Given the description of an element on the screen output the (x, y) to click on. 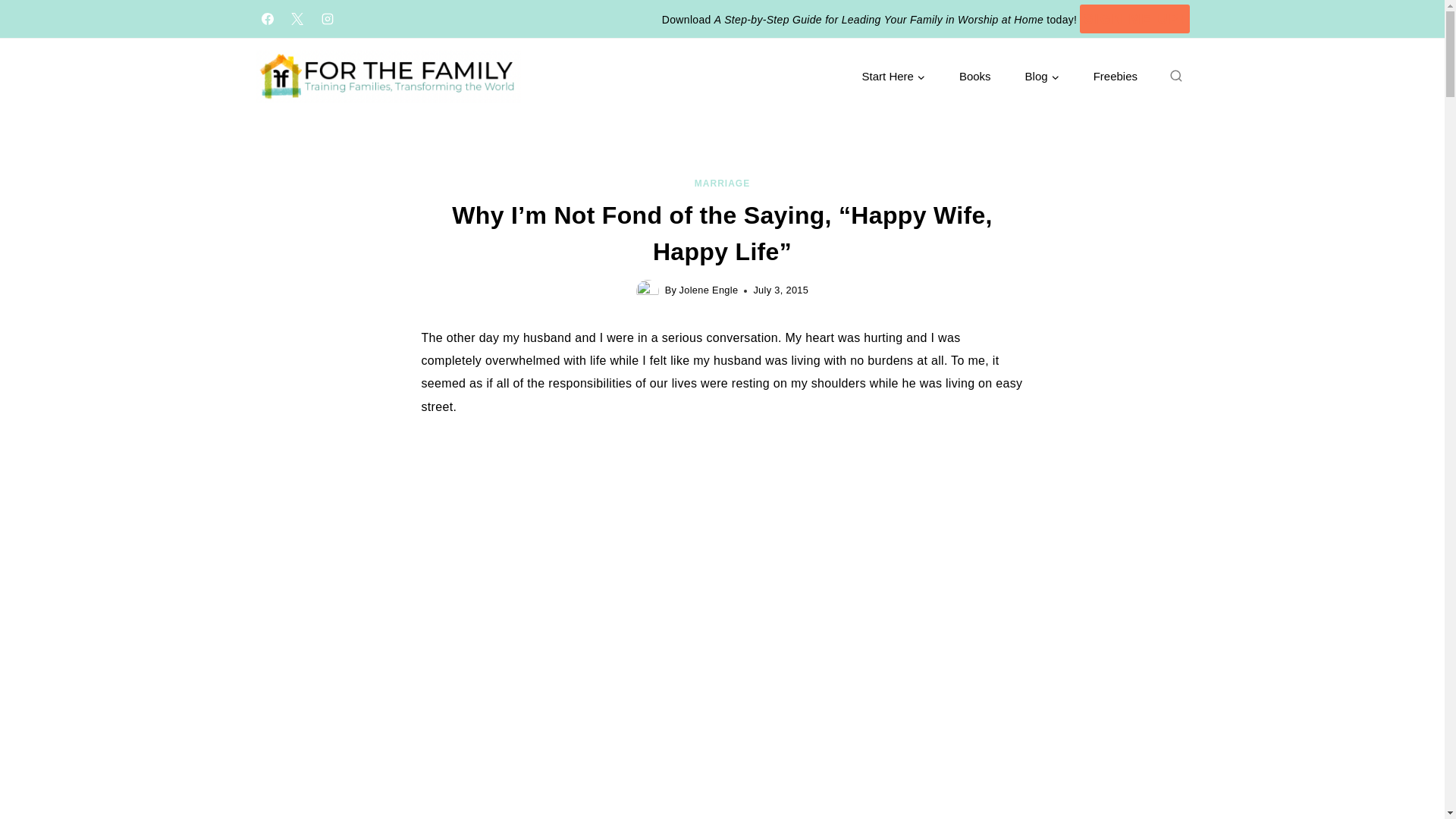
SIGN ME UP! (1134, 19)
Books (974, 76)
Jolene Engle (708, 289)
Start Here (893, 76)
Blog (1041, 76)
MARRIAGE (721, 183)
Freebies (1114, 76)
